Given the description of an element on the screen output the (x, y) to click on. 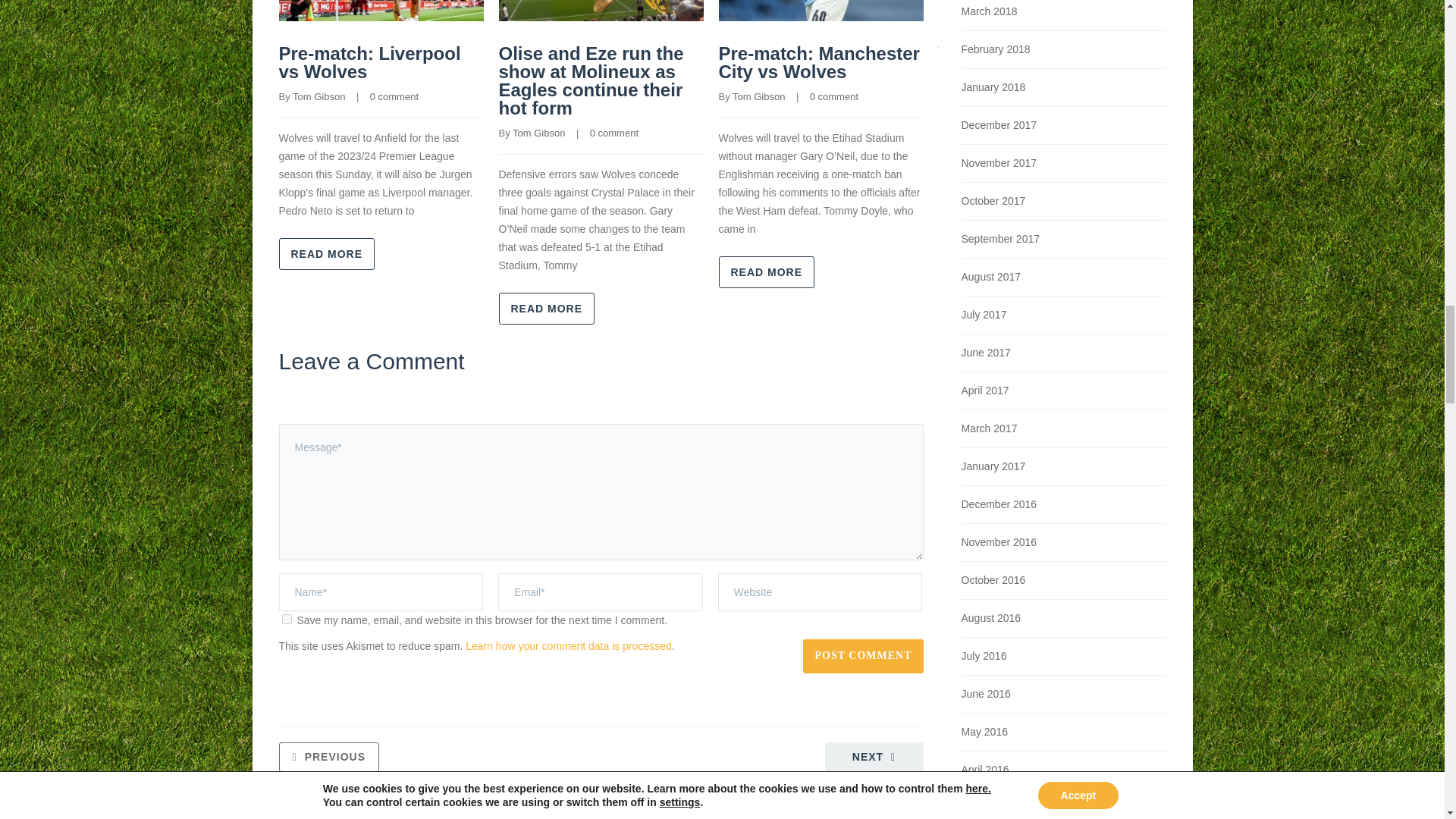
yes (287, 619)
Post Comment (863, 656)
Posts by Tom Gibson (318, 96)
Posts by Tom Gibson (538, 132)
Posts by Tom Gibson (758, 96)
